Given the description of an element on the screen output the (x, y) to click on. 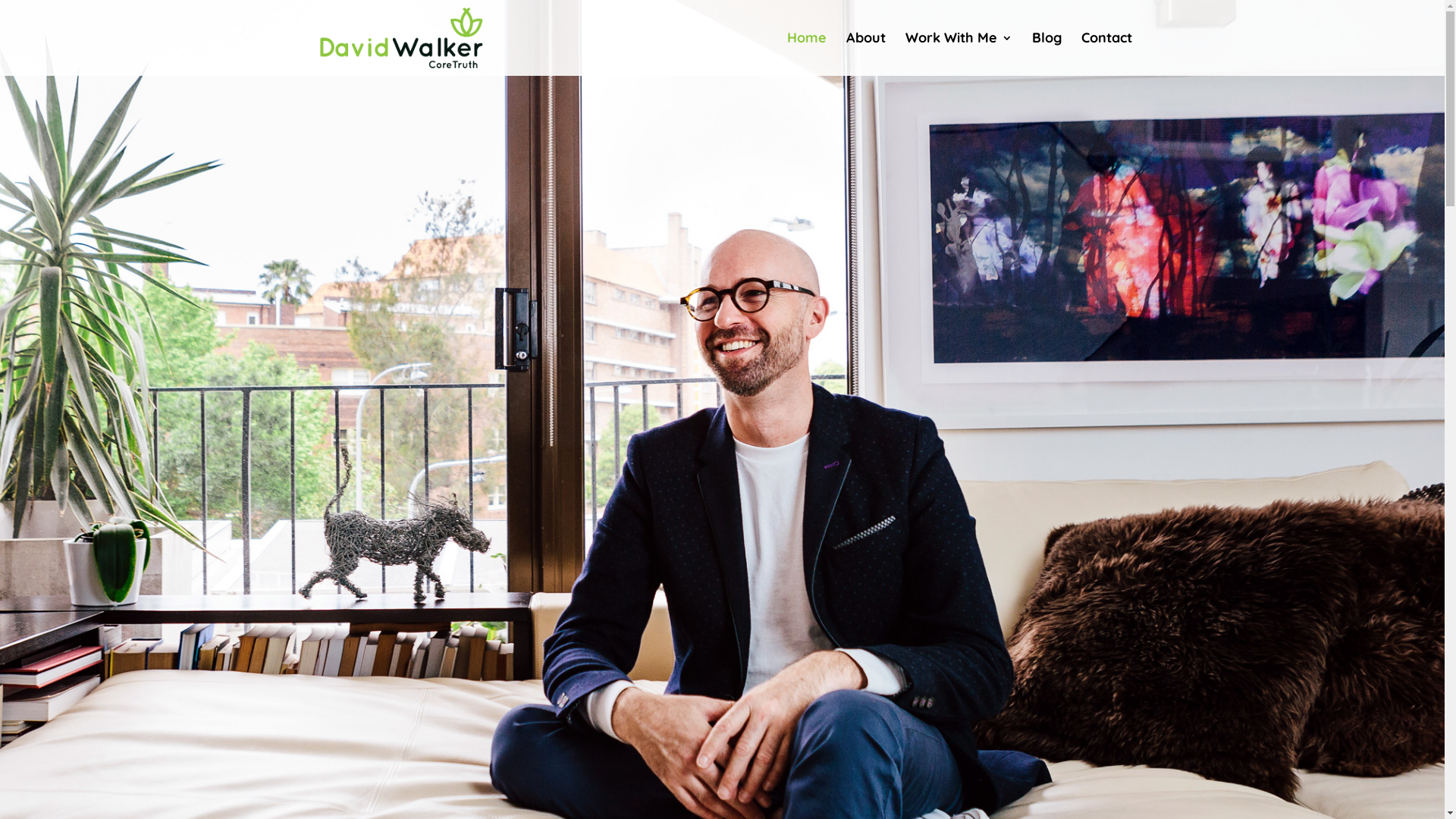
Blog Element type: text (1045, 53)
Work With Me Element type: text (958, 53)
Home Element type: text (806, 53)
About Element type: text (865, 53)
Contact Element type: text (1106, 53)
